Given the description of an element on the screen output the (x, y) to click on. 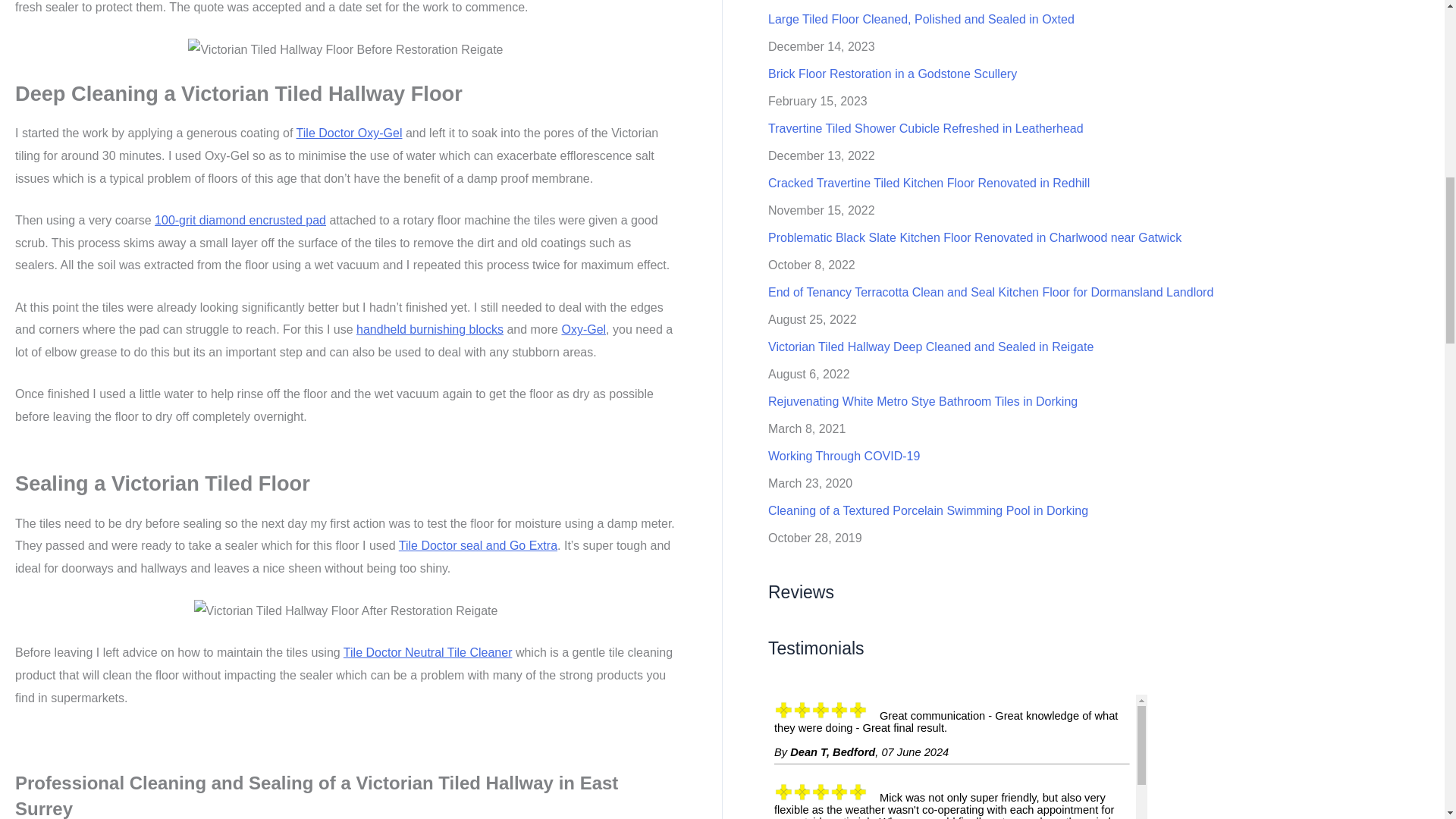
Victorian Tiled Hallway Floor Before Restoration Reigate (344, 49)
Victorian Tiled Hallway Floor After Restoration Reigate (345, 610)
